Given the description of an element on the screen output the (x, y) to click on. 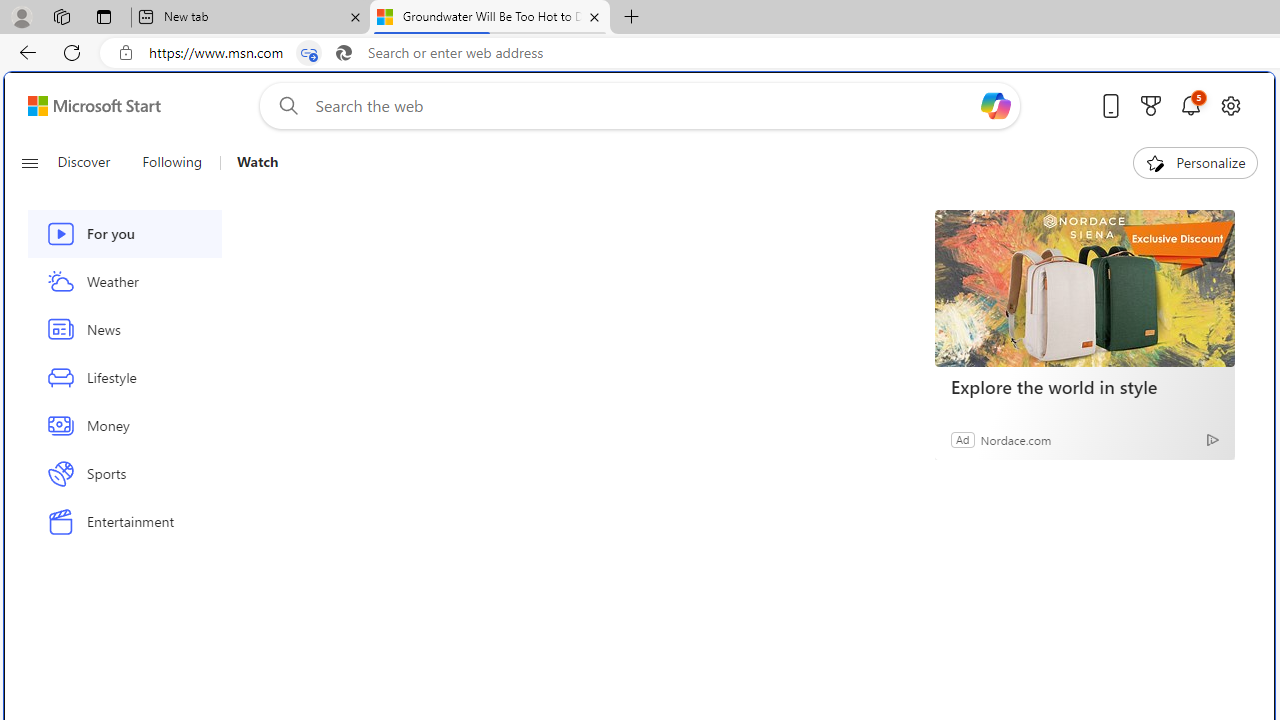
Workspaces (61, 16)
To get missing image descriptions, open the context menu. (1155, 162)
Discover (91, 162)
Skip to content (86, 105)
Open settings (1230, 105)
Explore the world in style (1084, 288)
Search icon (343, 53)
Open navigation menu (29, 162)
Following (173, 162)
